Given the description of an element on the screen output the (x, y) to click on. 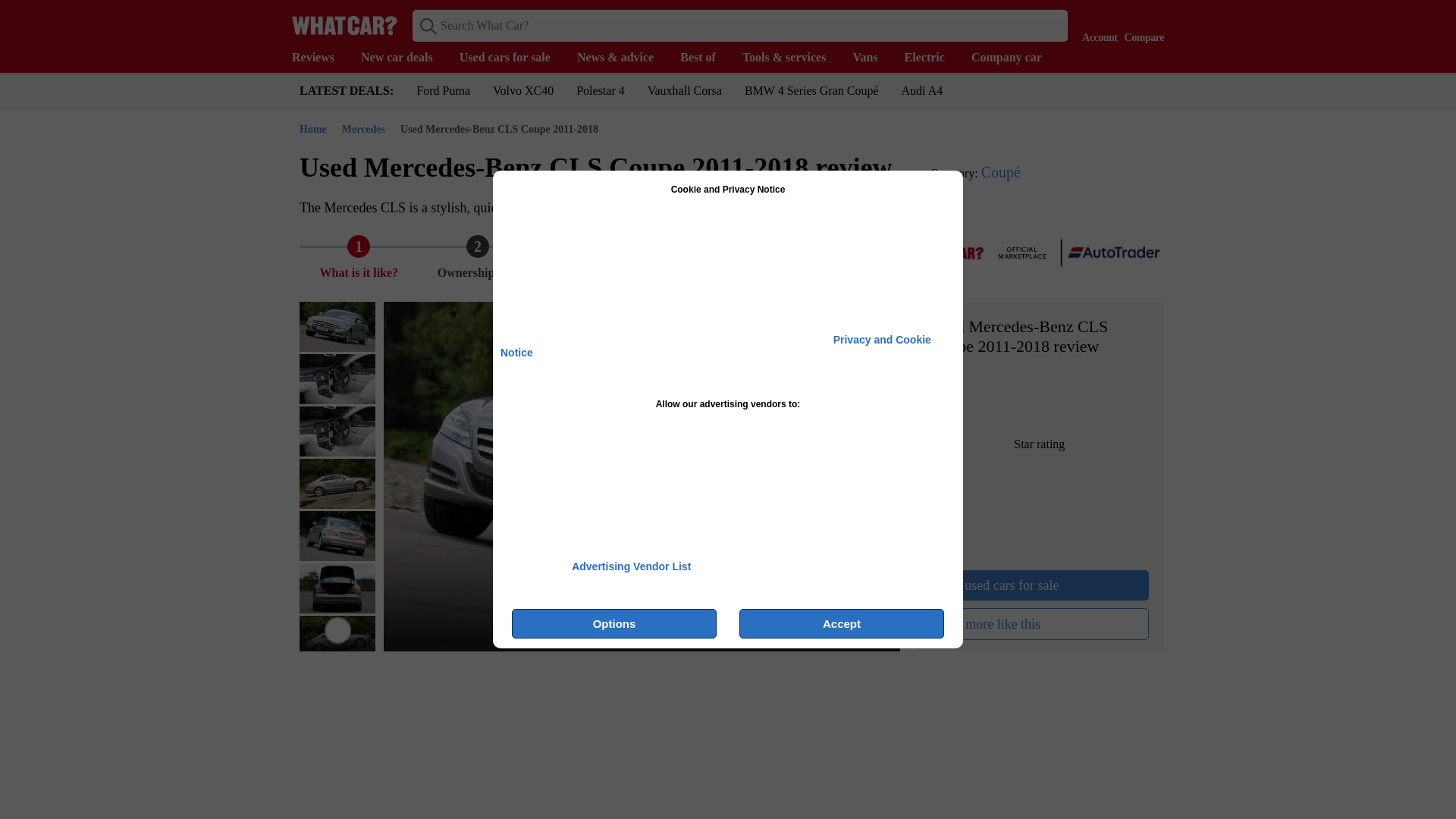
Best of (704, 57)
Company car (1014, 57)
Reviews (320, 57)
Used cars for sale (513, 57)
Compare (1140, 24)
Account (1095, 24)
Electric (931, 57)
WhatCar? logo (344, 25)
Vans (871, 57)
New car deals (404, 57)
